Given the description of an element on the screen output the (x, y) to click on. 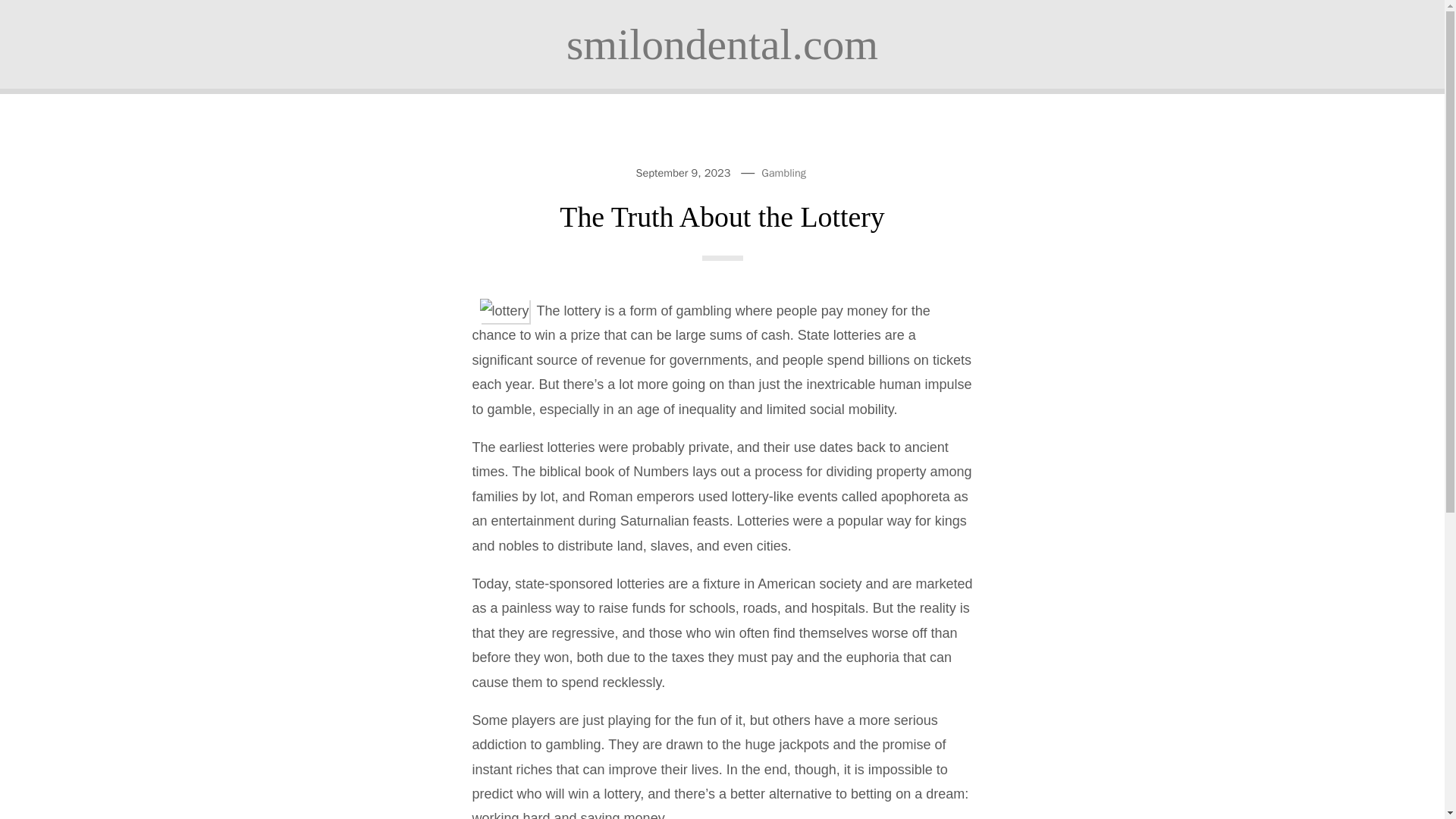
smilondental.com (721, 43)
Gambling (783, 172)
